Given the description of an element on the screen output the (x, y) to click on. 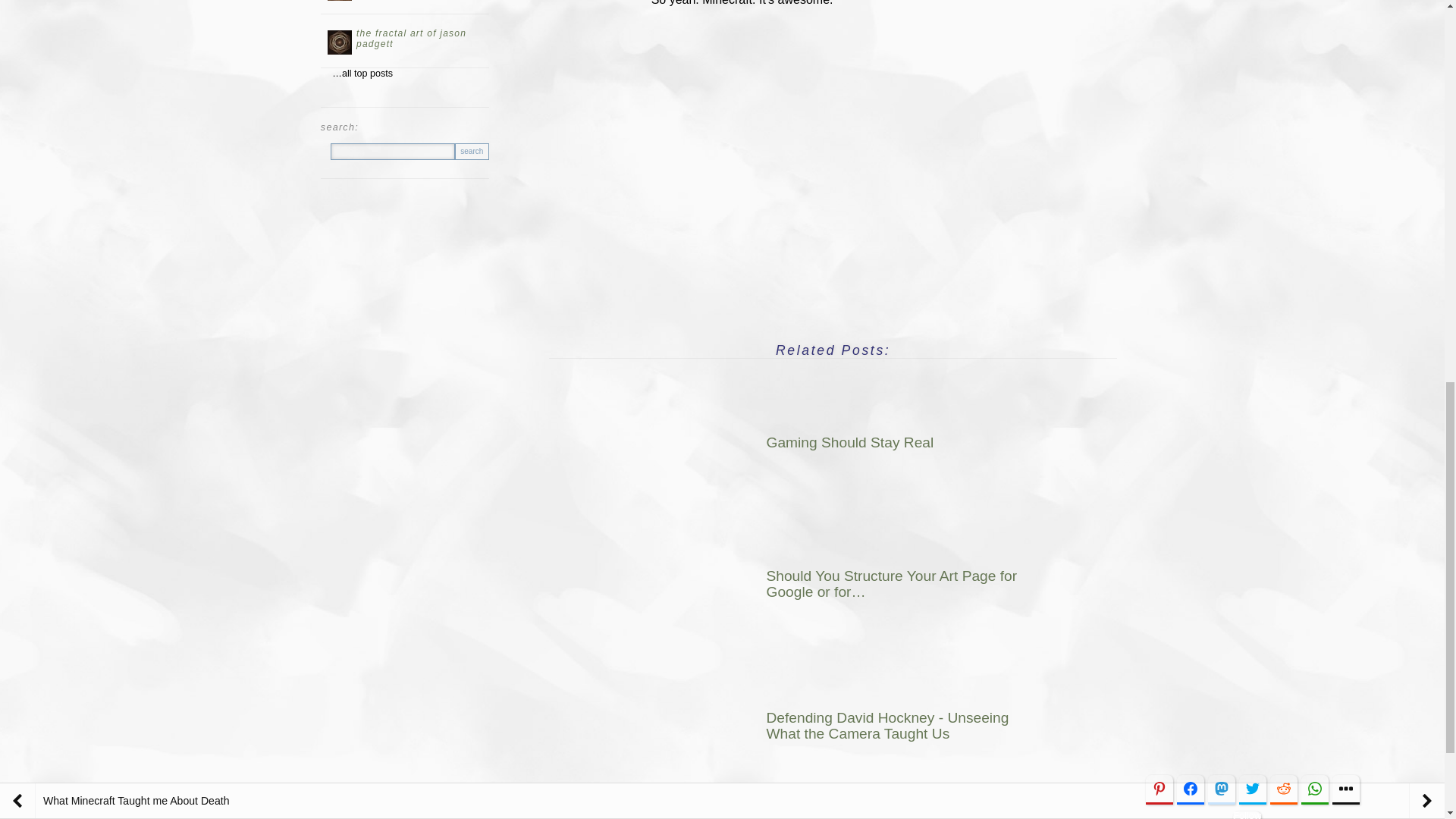
Gaming Should Stay Real (697, 435)
search (471, 151)
Gaming Should Stay Real (839, 442)
Defending David Hockney - Unseeing What the Camera Taught Us (697, 719)
YouTube video player (832, 166)
Defending David Hockney - Unseeing What the Camera Taught Us (839, 726)
Game Discoveries (807, 815)
Minecraft (895, 815)
